Given the description of an element on the screen output the (x, y) to click on. 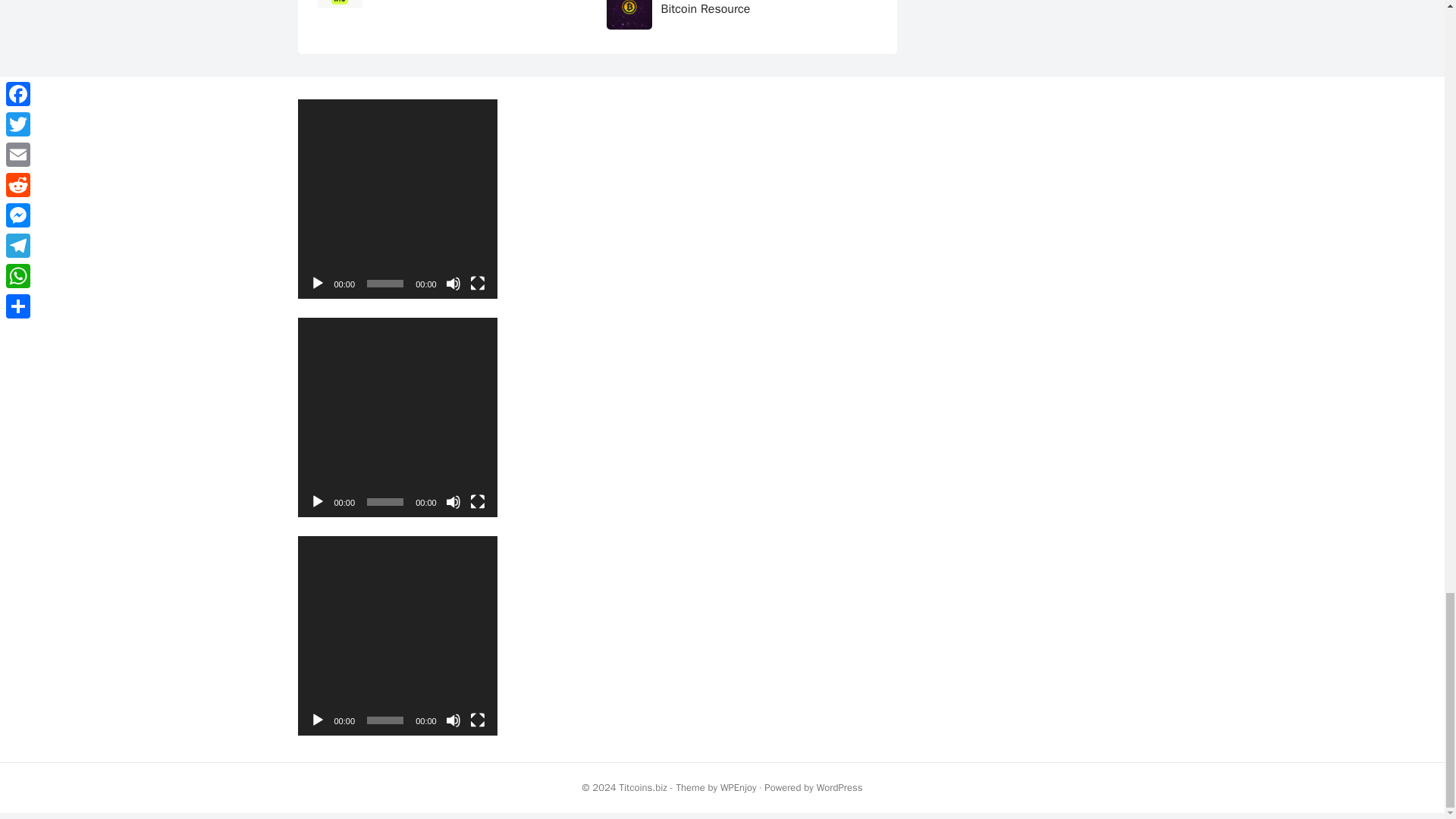
Mute (453, 501)
Fullscreen (477, 720)
Fullscreen (477, 501)
Mute (453, 720)
Play (316, 720)
Make Money Online Through Effective Bitcoin Resource (760, 8)
Fullscreen (477, 283)
Mute (453, 283)
Play (316, 501)
Play (316, 283)
